Given the description of an element on the screen output the (x, y) to click on. 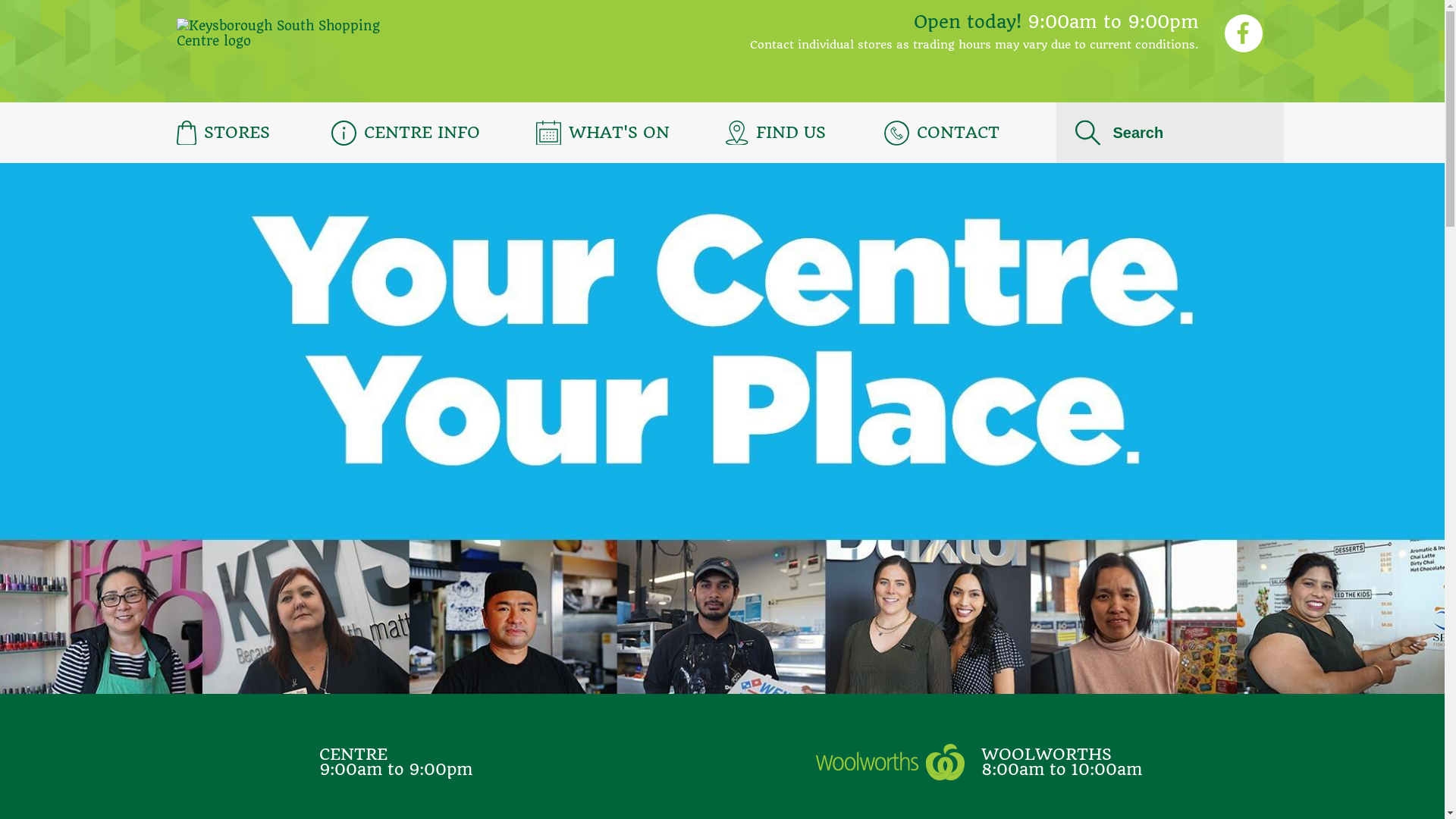
CENTRE INFO Element type: text (409, 131)
Go Element type: text (113, 30)
WOOLWORTHS
8:00am to 10:00am Element type: text (978, 761)
CONTACT Element type: text (945, 131)
